Given the description of an element on the screen output the (x, y) to click on. 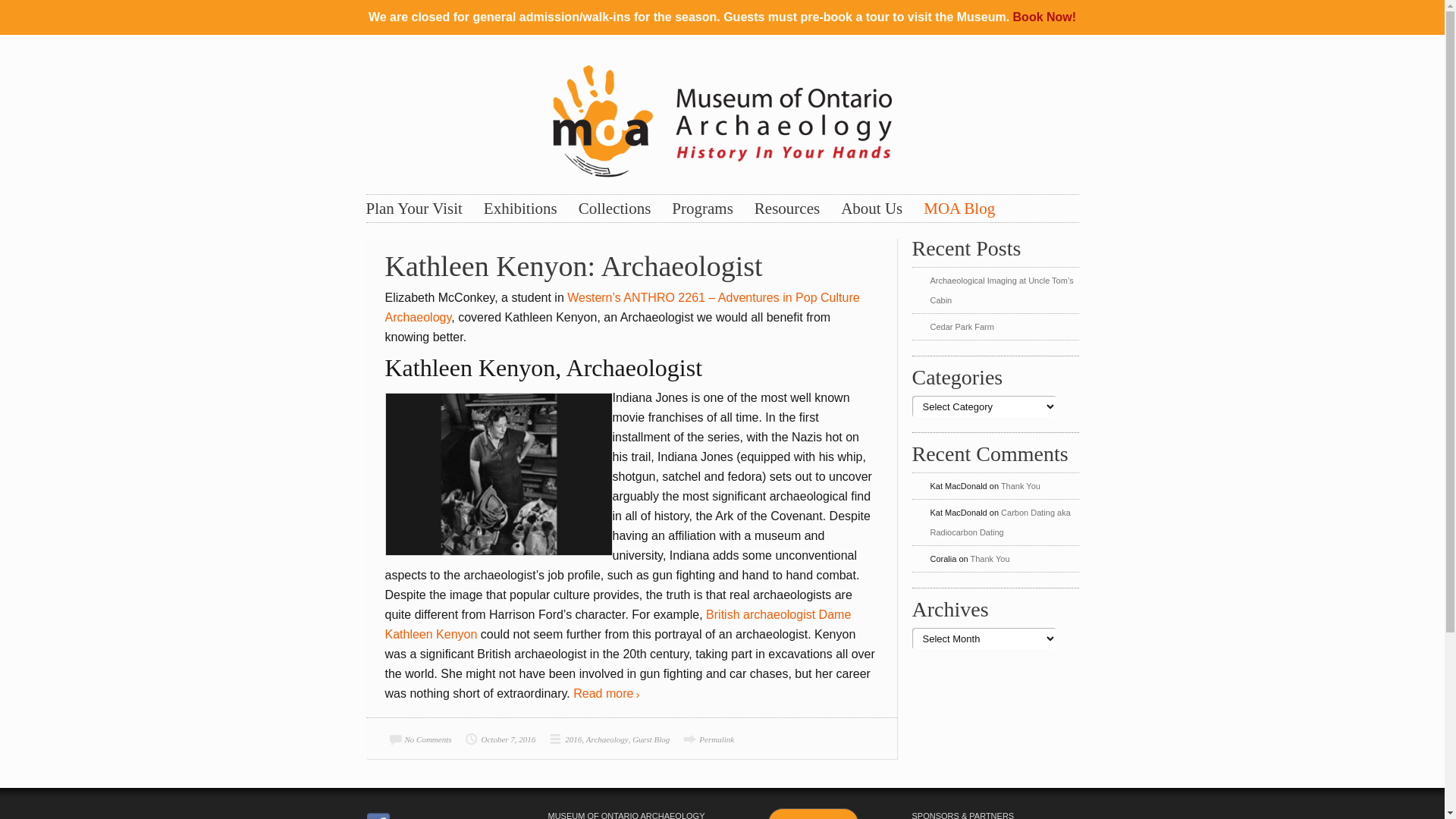
MOA Blog Element type: text (958, 208)
Carbon Dating aka Radiocarbon Dating Element type: text (999, 522)
October 7, 2016 Element type: text (498, 739)
Museum of Ontario Archaeology Element type: hover (721, 118)
Collections Element type: text (614, 208)
No Comments Element type: text (418, 739)
Thank You Element type: text (990, 558)
Book Now! Element type: text (1044, 16)
Guest Blog Element type: text (650, 739)
British archaeologist Dame Kathleen Kenyon Element type: text (618, 624)
Resources Element type: text (786, 208)
Plan Your Visit Element type: text (413, 208)
Archaeology Element type: text (607, 739)
Read more Element type: text (606, 693)
Programs Element type: text (702, 208)
2016 Element type: text (563, 739)
Kathleen Kenyon: Archaeologist Element type: text (573, 266)
Thank You Element type: text (1020, 485)
Exhibitions Element type: text (520, 208)
Cedar Park Farm Element type: text (961, 326)
About Us Element type: text (871, 208)
Permalink Element type: text (706, 739)
